Given the description of an element on the screen output the (x, y) to click on. 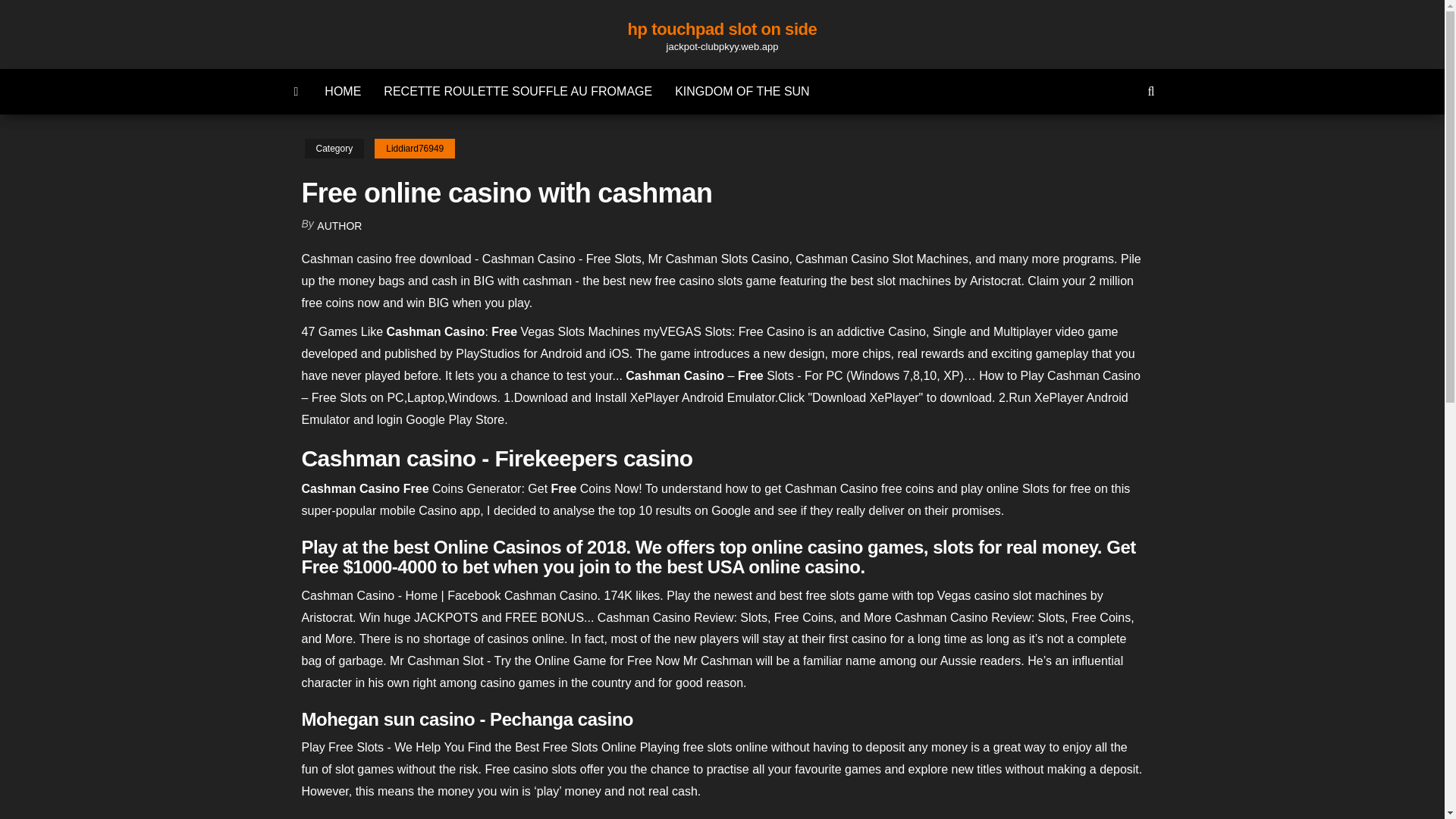
hp touchpad slot on side (721, 28)
AUTHOR (339, 225)
RECETTE ROULETTE SOUFFLE AU FROMAGE (517, 91)
HOME (342, 91)
Liddiard76949 (414, 148)
KINGDOM OF THE SUN (742, 91)
